Given the description of an element on the screen output the (x, y) to click on. 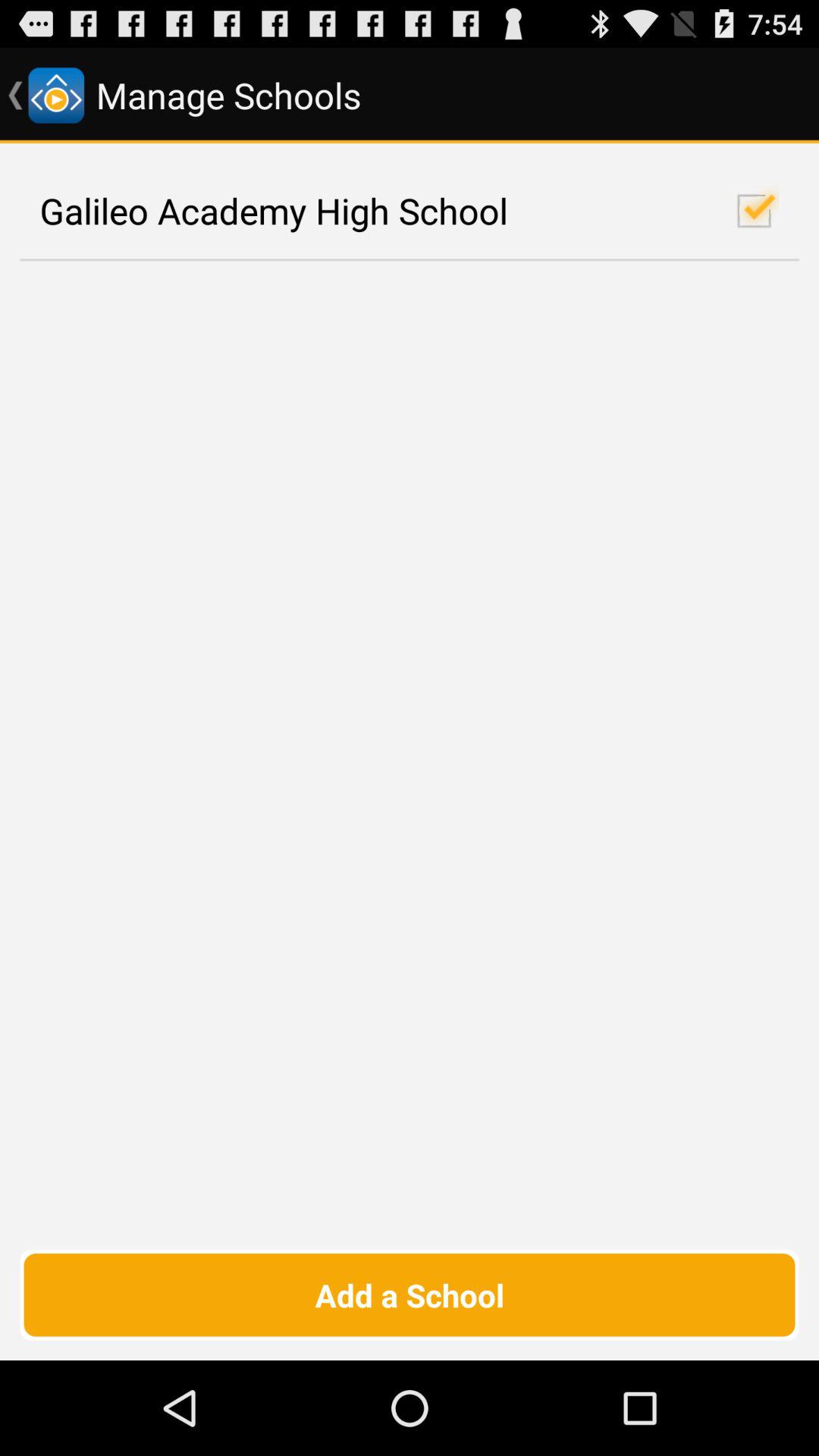
select galileo academy high item (409, 210)
